Given the description of an element on the screen output the (x, y) to click on. 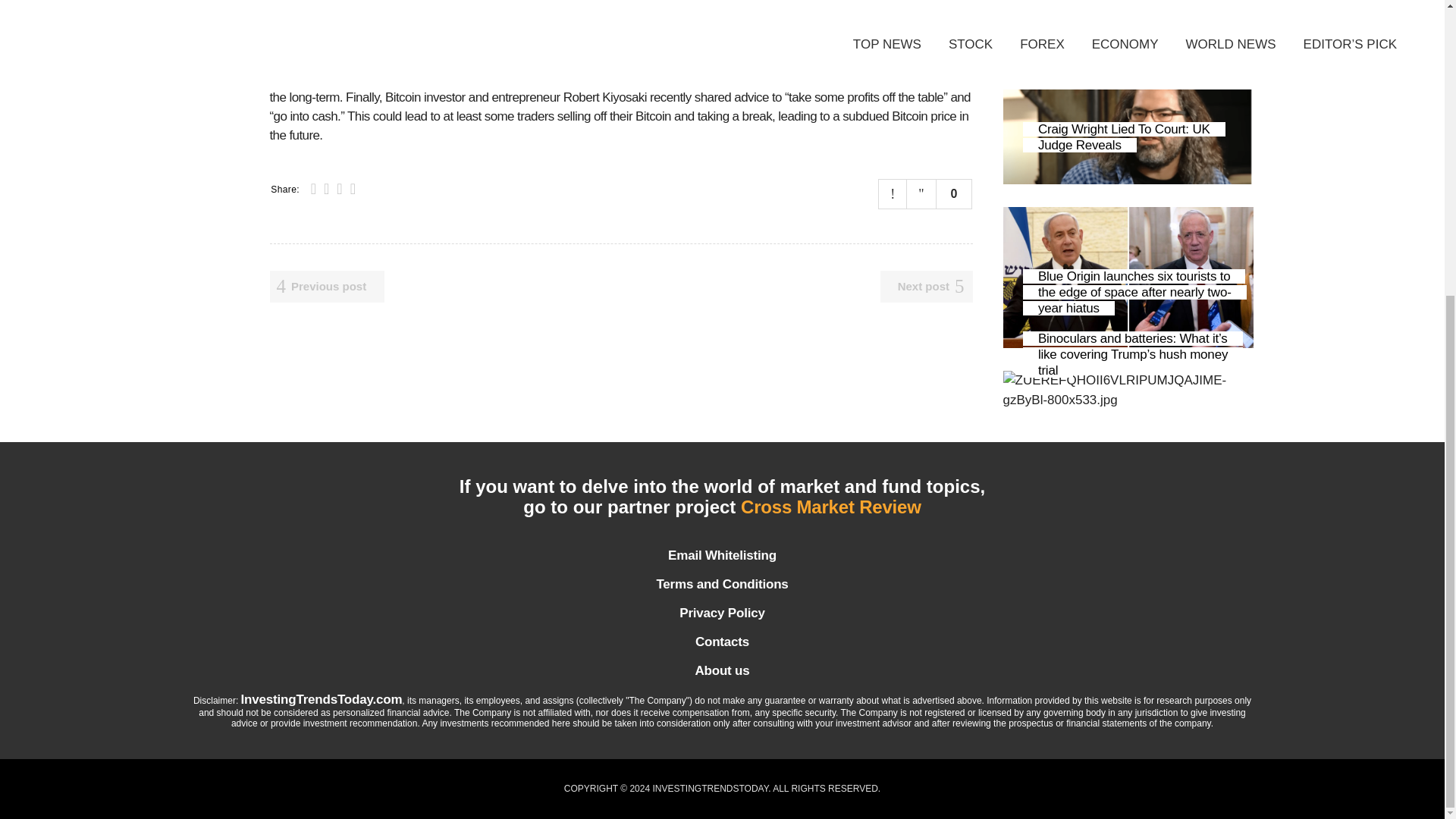
Email Whitelisting (721, 555)
Craig Wright Lied To Court: UK Judge Reveals (1127, 120)
Craig Wright Lied To Court: UK Judge Reveals (1124, 137)
Next post (926, 286)
Previous post (327, 286)
Craig Wright Lied To Court: UK Judge Reveals (1124, 137)
